Given the description of an element on the screen output the (x, y) to click on. 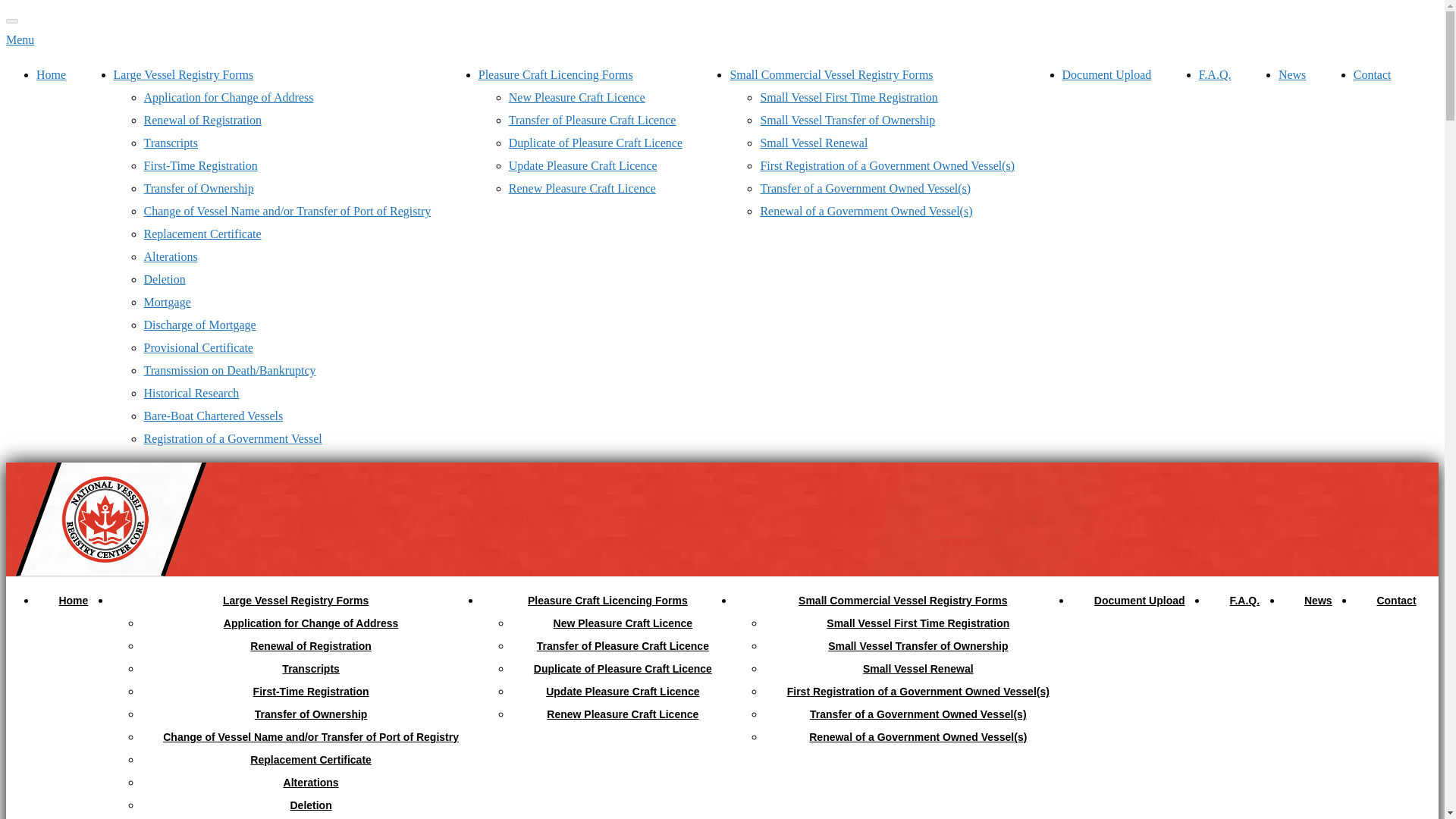
Historical Research (192, 392)
Home (50, 74)
Renewal of Registration (203, 119)
Mortgage (167, 301)
Transfer of Ownership (198, 187)
Transcripts (171, 142)
News (1292, 74)
F.A.Q. (1214, 74)
Duplicate of Pleasure Craft Licence (595, 142)
Transfer of Pleasure Craft Licence (592, 119)
Provisional Certificate (198, 347)
